Given the description of an element on the screen output the (x, y) to click on. 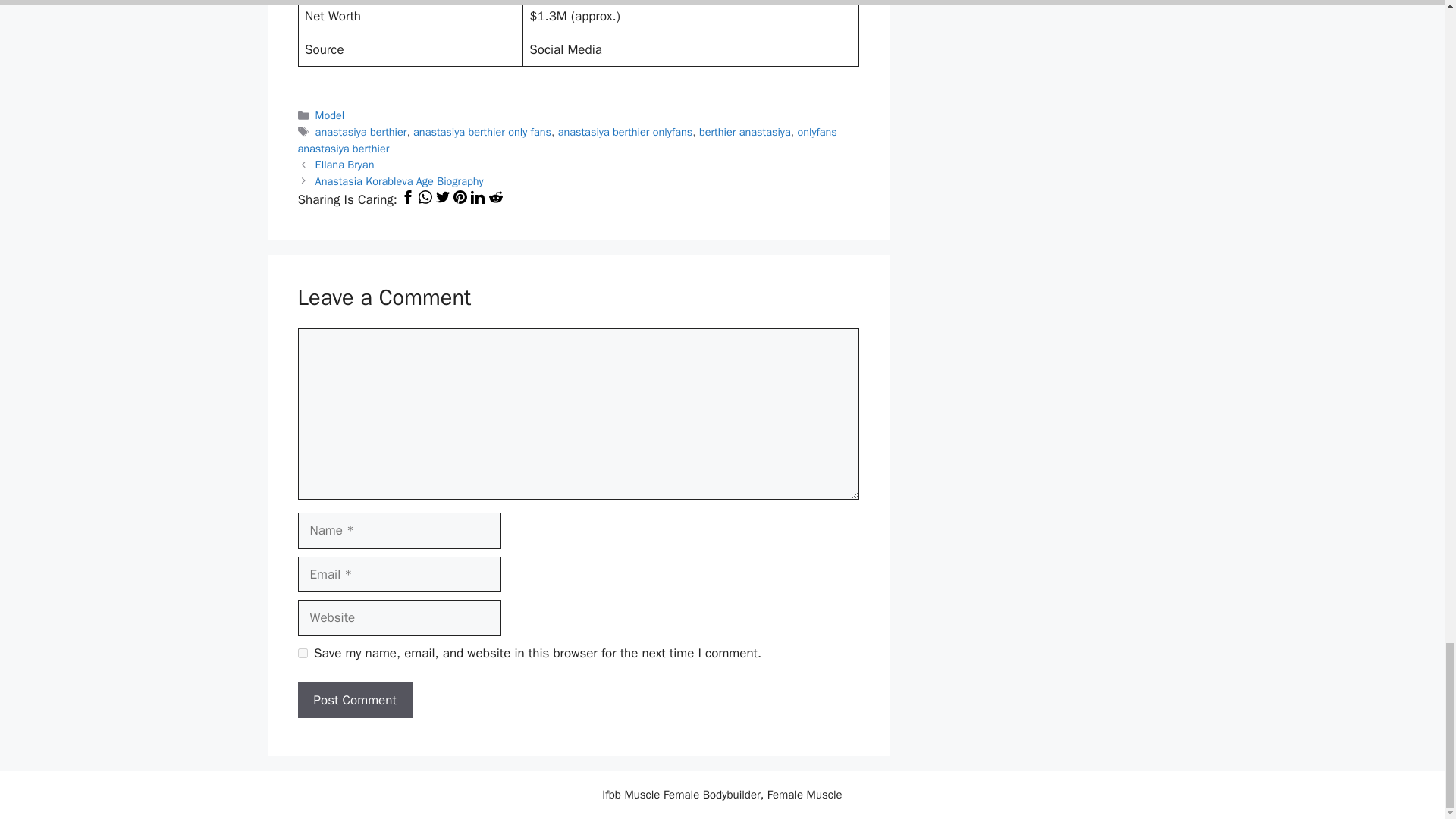
berthier anastasiya (744, 131)
Post Comment (354, 700)
Ellana Bryan (344, 164)
anastasiya berthier onlyfans (625, 131)
Post Comment (354, 700)
anastasiya berthier (361, 131)
yes (302, 653)
Model (330, 115)
anastasiya berthier only fans (482, 131)
Anastasia Korableva Age Biography (399, 181)
